Given the description of an element on the screen output the (x, y) to click on. 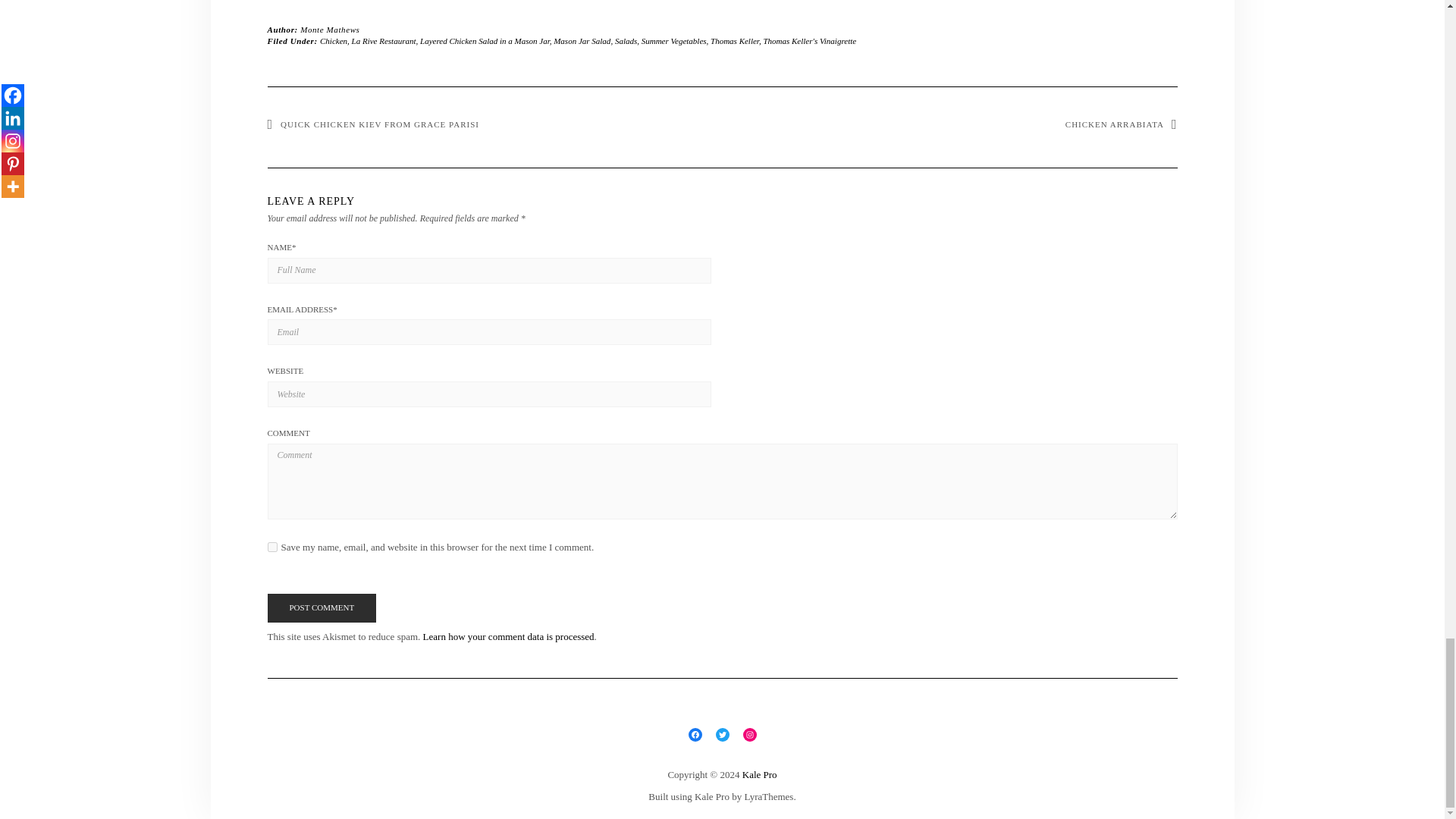
Post Comment (320, 607)
yes (271, 547)
Posts by Monte Mathews (329, 29)
